Given the description of an element on the screen output the (x, y) to click on. 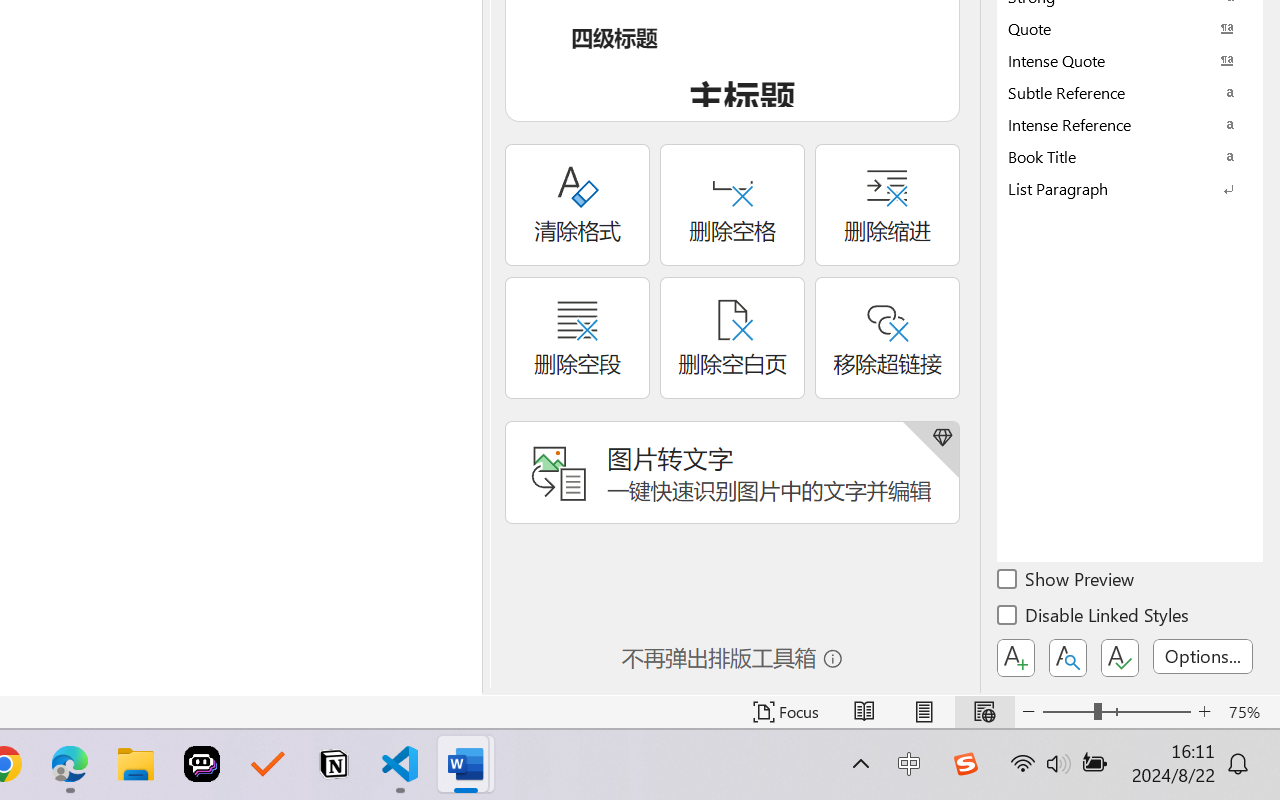
Focus  (786, 712)
Class: NetUIButton (1119, 657)
Class: NetUIImage (1116, 188)
Zoom Out (1067, 712)
